Given the description of an element on the screen output the (x, y) to click on. 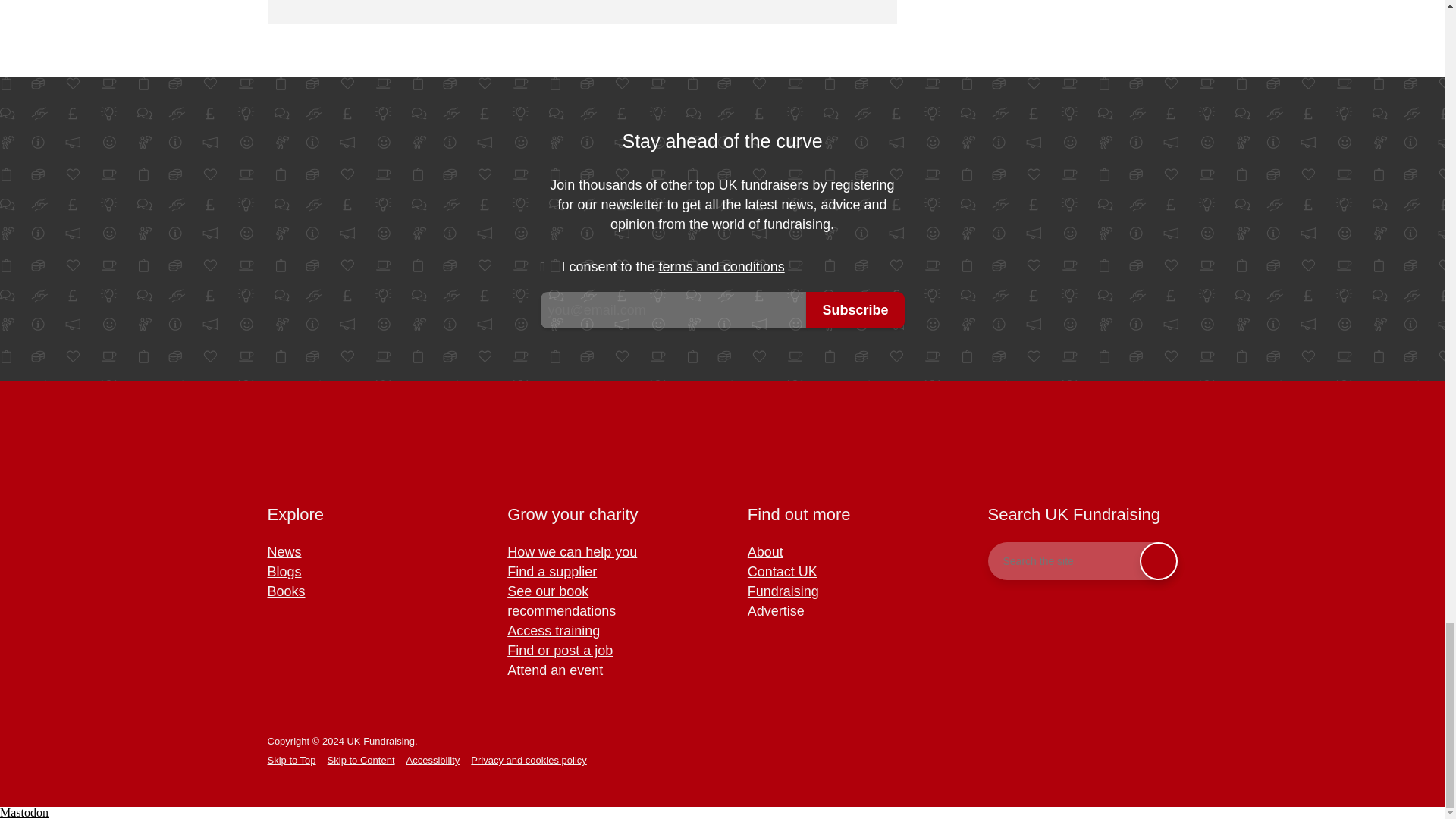
Subscribe (855, 309)
on (551, 267)
